Given the description of an element on the screen output the (x, y) to click on. 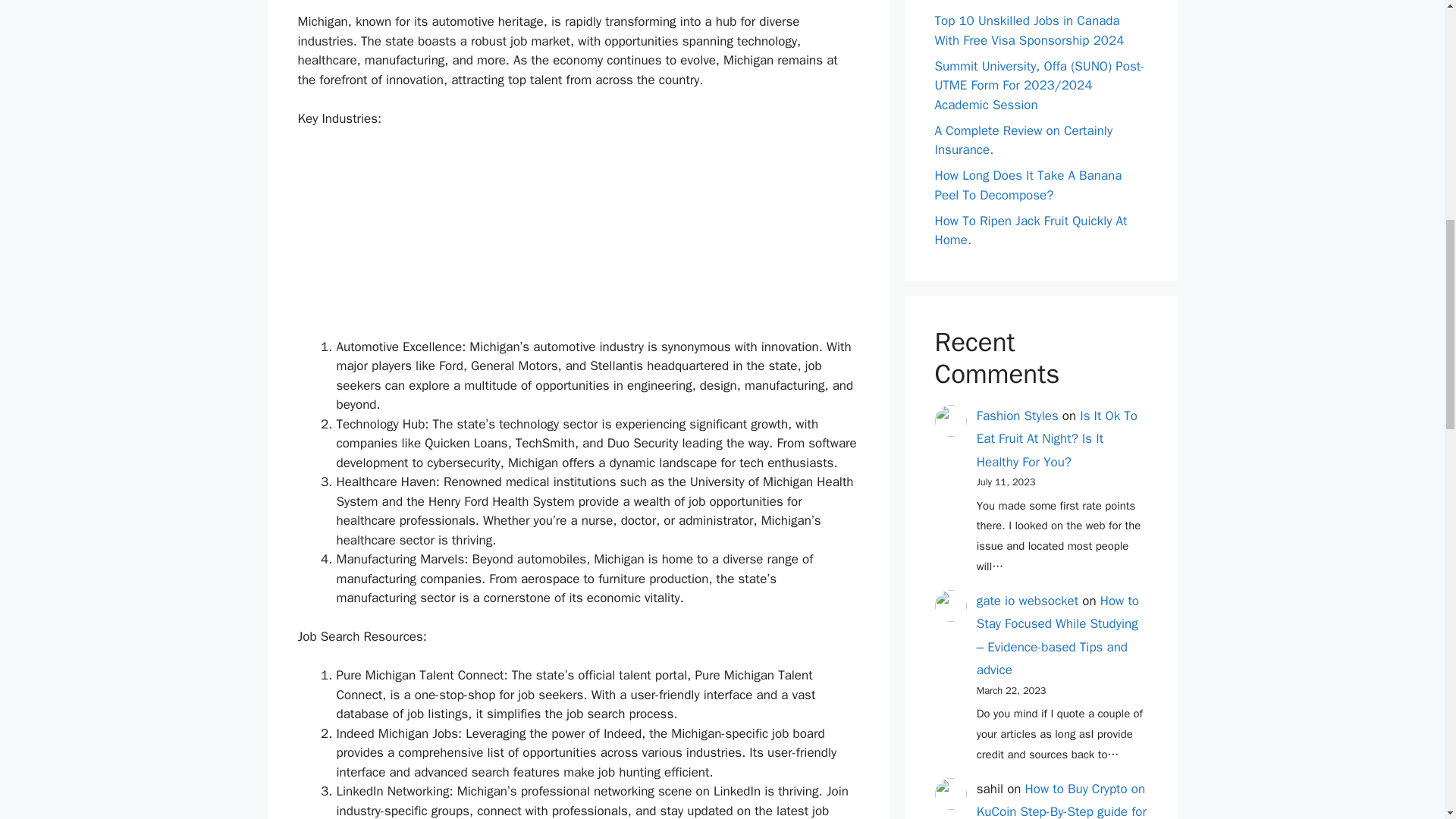
gate io websocket (1027, 600)
Is It Ok To Eat Fruit At Night? Is It Healthy For You? (1056, 438)
How Long Does It Take A Banana Peel To Decompose? (1027, 185)
Fashion Styles (1017, 415)
How To Ripen Jack Fruit Quickly At Home. (1030, 230)
How to Buy Crypto on KuCoin Step-By-Step guide for new users (1061, 800)
A Complete Review on Certainly Insurance. (1023, 140)
